Given the description of an element on the screen output the (x, y) to click on. 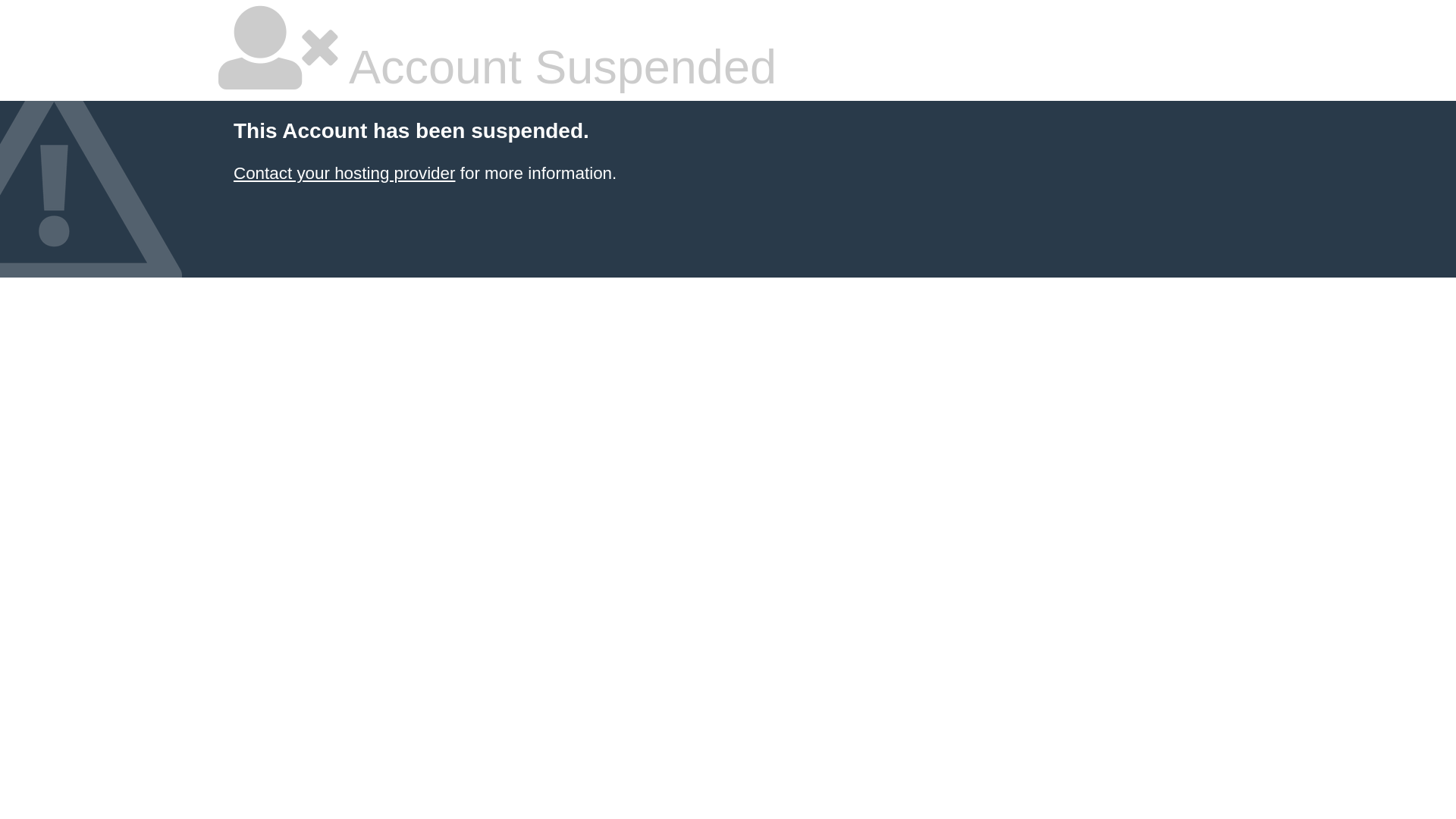
Contact your hosting provider Element type: text (344, 172)
